Given the description of an element on the screen output the (x, y) to click on. 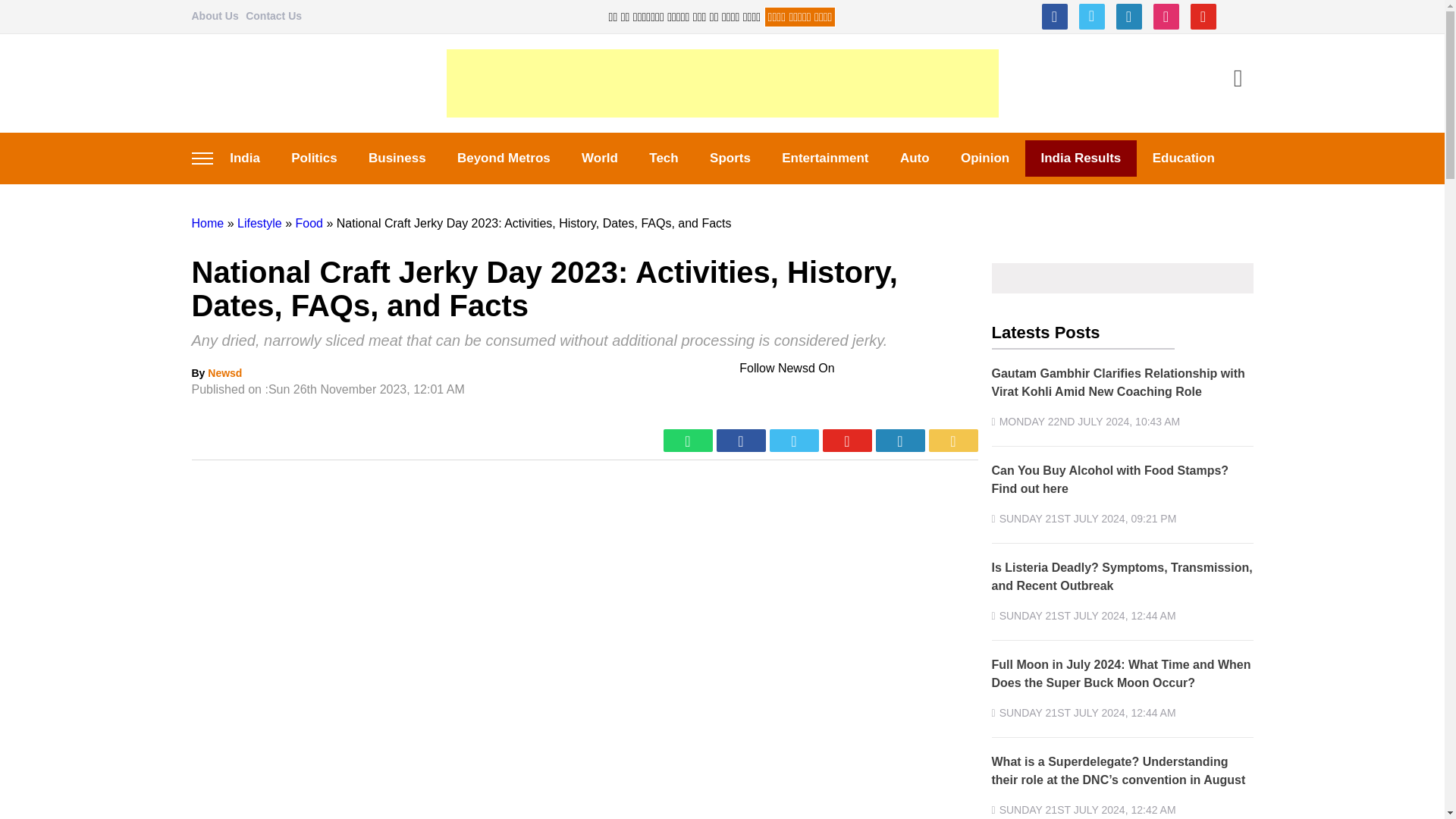
Opinion (984, 158)
Tech (663, 158)
Tech (663, 158)
Sports (729, 158)
India Results (1081, 158)
Contact Us (273, 15)
Politics (314, 158)
Newsd (224, 372)
Facebook (1054, 16)
World (599, 158)
Search (1237, 79)
About Us (214, 15)
Politics (314, 158)
Food (308, 223)
Home (207, 223)
